Given the description of an element on the screen output the (x, y) to click on. 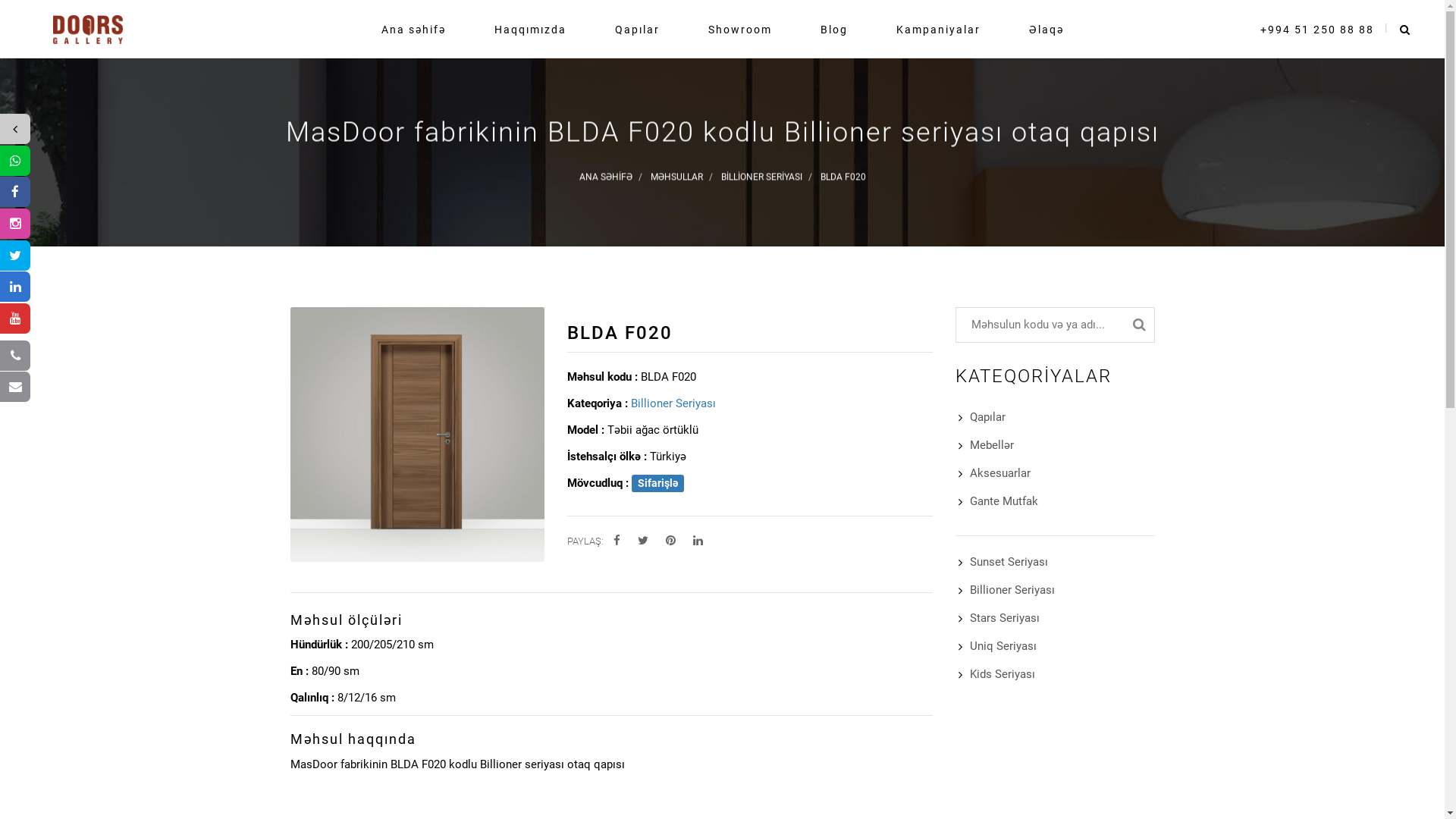
BLDA F020 Element type: text (843, 177)
Doors Gallery Element type: hover (87, 25)
Aksesuarlar Element type: text (999, 473)
Blog Element type: text (833, 25)
BILLIONER SERIYASI Element type: text (760, 177)
Showroom Element type: text (739, 25)
+994 51 250 88 88 Element type: text (1316, 25)
Gante Mutfak Element type: text (1003, 501)
Kampaniyalar Element type: text (938, 25)
